Given the description of an element on the screen output the (x, y) to click on. 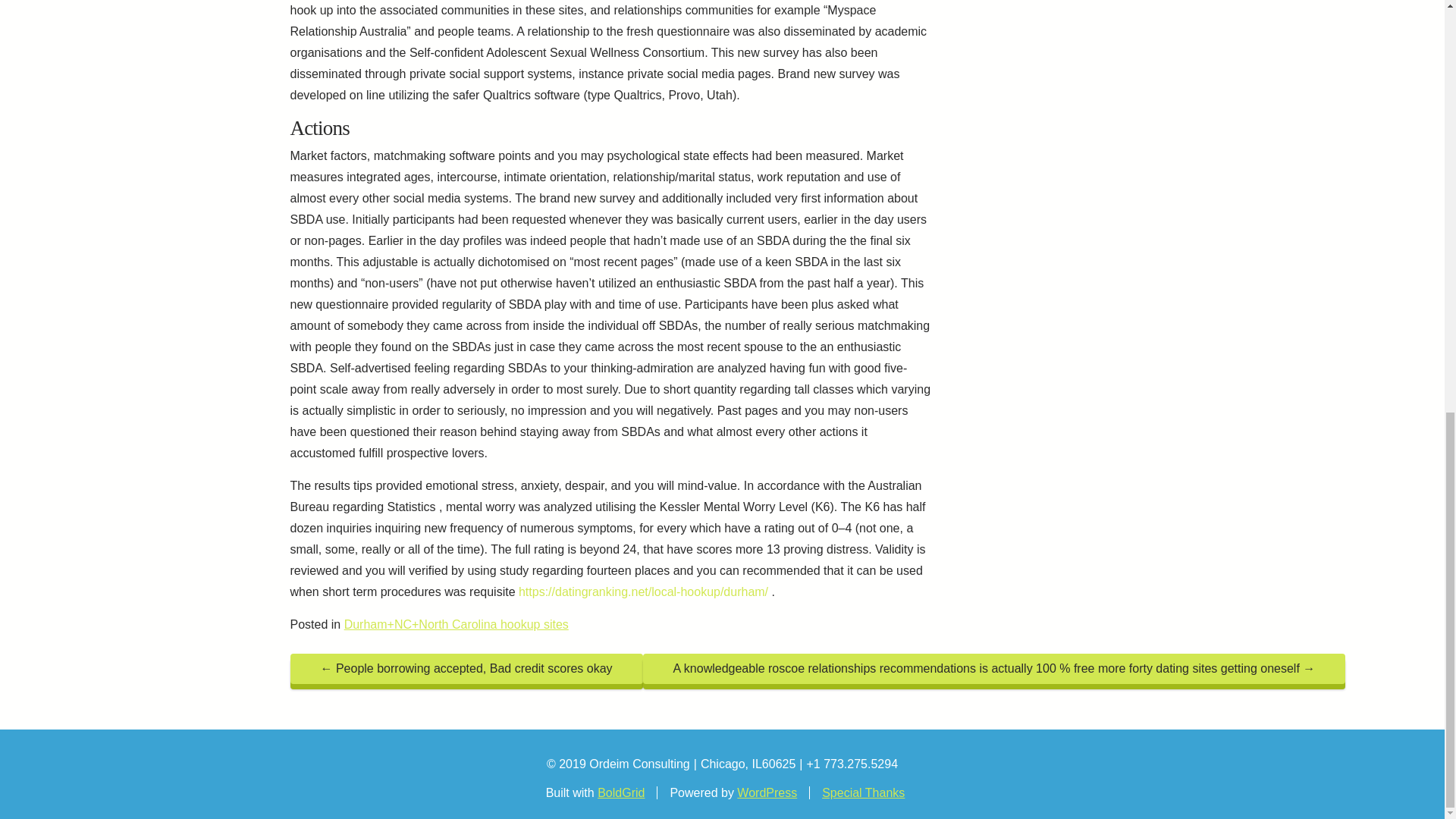
Special Thanks (863, 792)
BoldGrid (620, 792)
WordPress (766, 792)
